Given the description of an element on the screen output the (x, y) to click on. 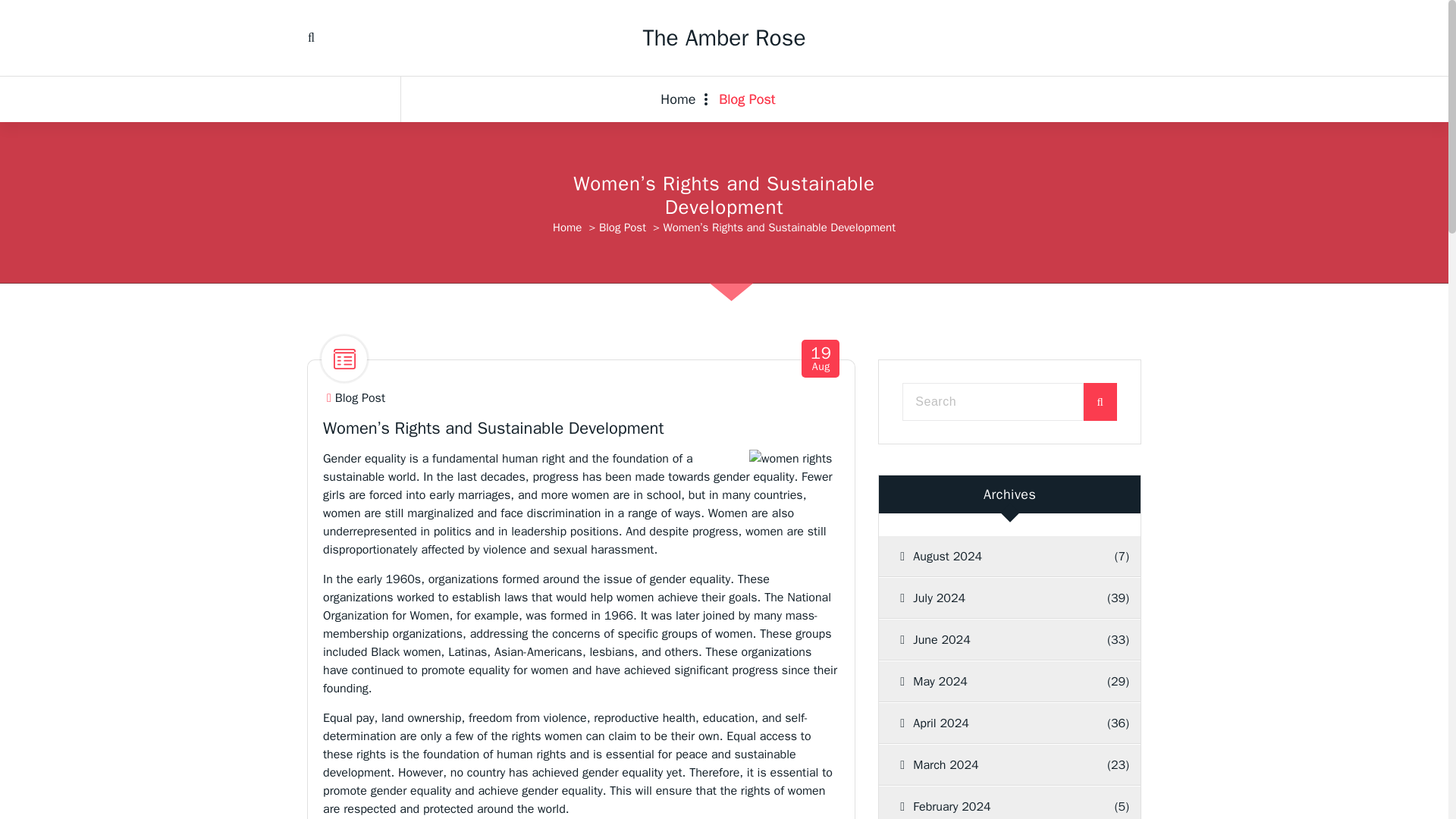
The Amber Rose (723, 37)
July 2024 (991, 598)
August 2024 (994, 556)
February 2024 (994, 802)
Blog Post (359, 398)
Blog Post (746, 99)
Blog Post (622, 227)
Home (566, 227)
May 2024 (991, 680)
Home (684, 99)
